Given the description of an element on the screen output the (x, y) to click on. 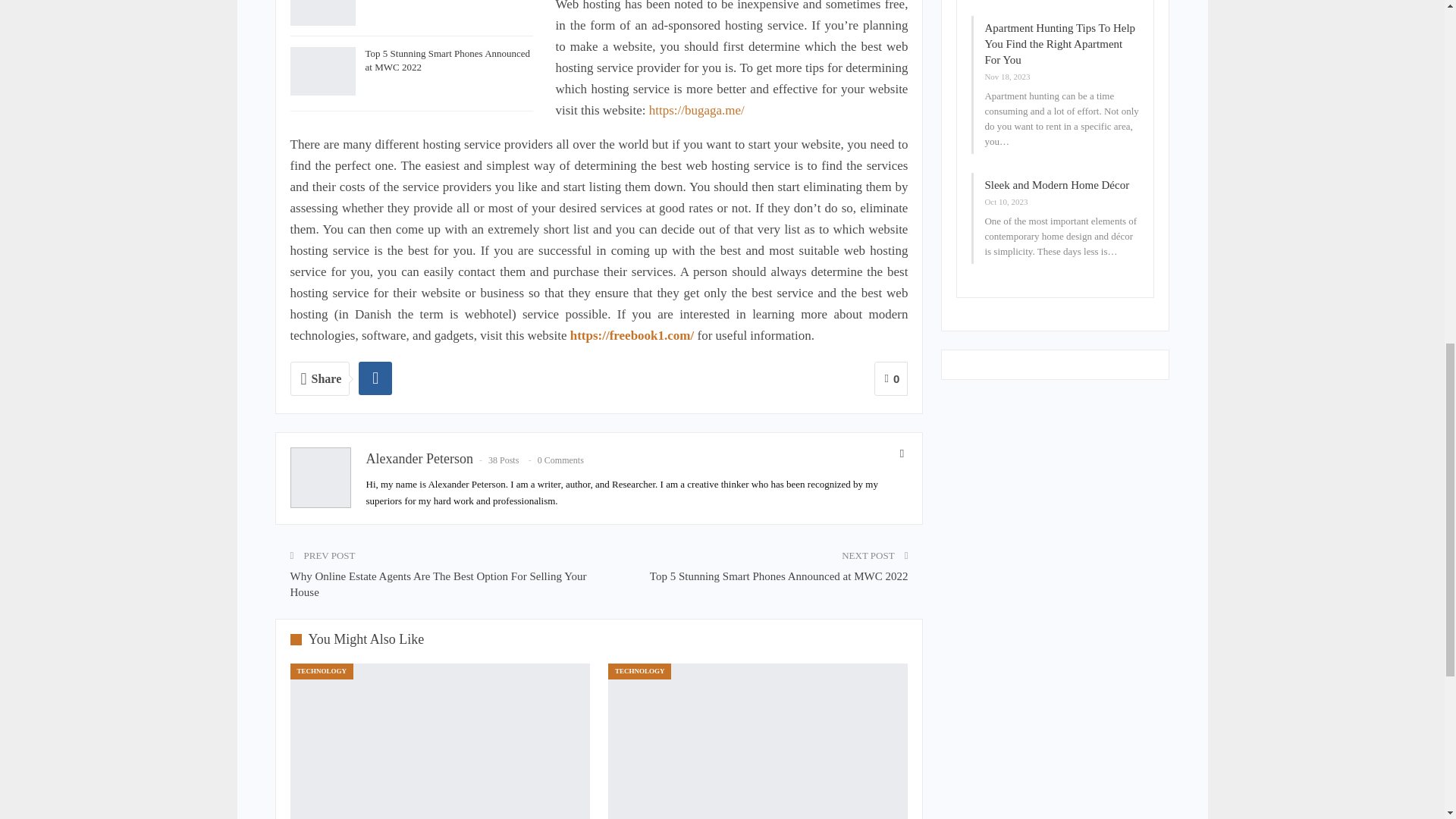
Top 5 Stunning Smart Phones Announced at MWC 2022 (757, 741)
The Changing Culture at Facebook (439, 741)
Top 5 Stunning Smart Phones Announced at MWC 2022 (448, 59)
The Changing Culture at Facebook (322, 12)
0 (891, 378)
Top 5 Stunning Smart Phones Announced at MWC 2022 (322, 70)
